Given the description of an element on the screen output the (x, y) to click on. 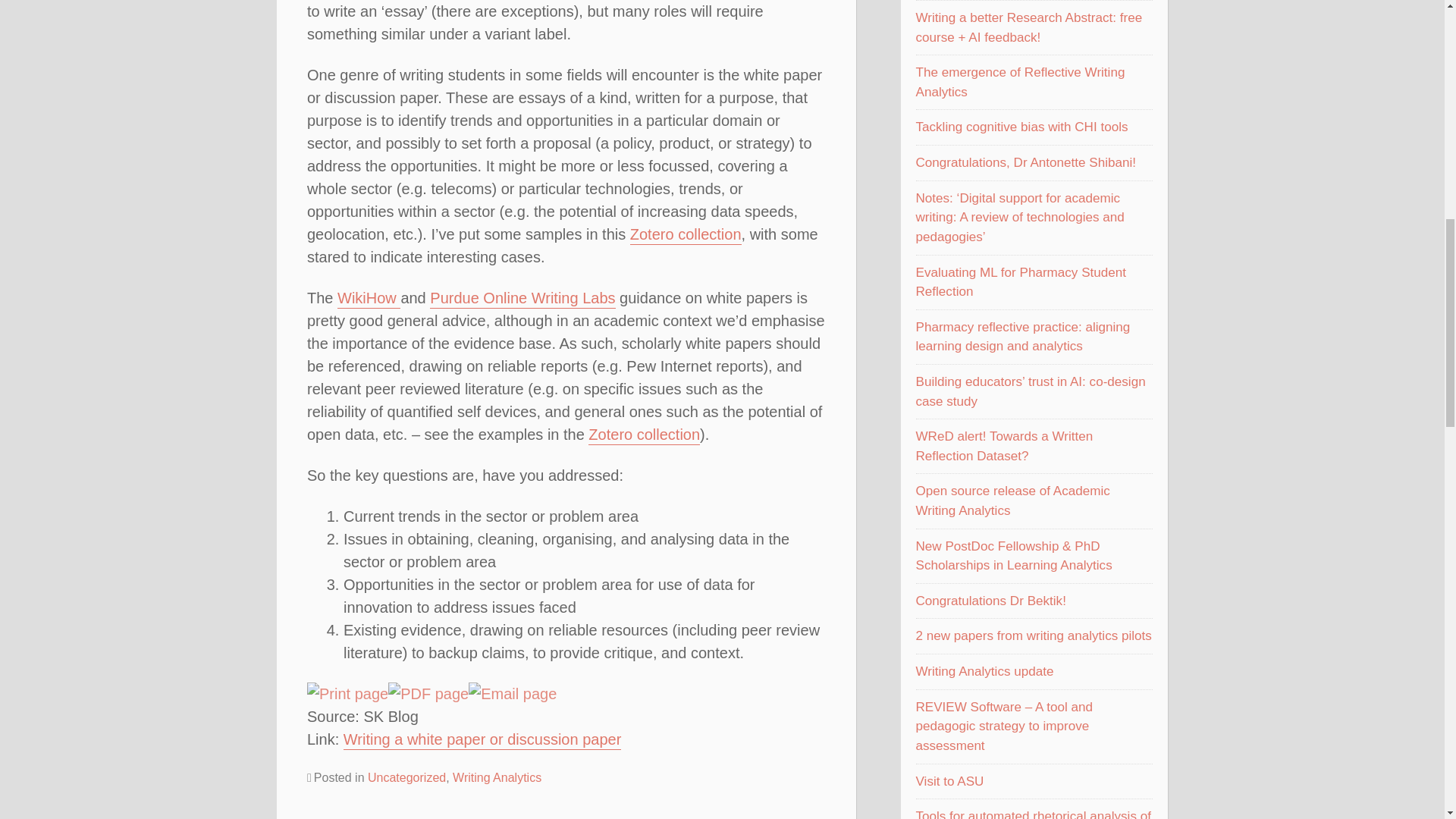
Zotero collection (644, 435)
WikiHow (368, 298)
Uncategorized (406, 777)
Zotero collection (685, 235)
PDF page (428, 693)
Writing Analytics (496, 777)
Email page (512, 693)
Writing a white paper or discussion paper (482, 740)
Purdue Online Writing Labs (521, 298)
Print page (347, 693)
